Given the description of an element on the screen output the (x, y) to click on. 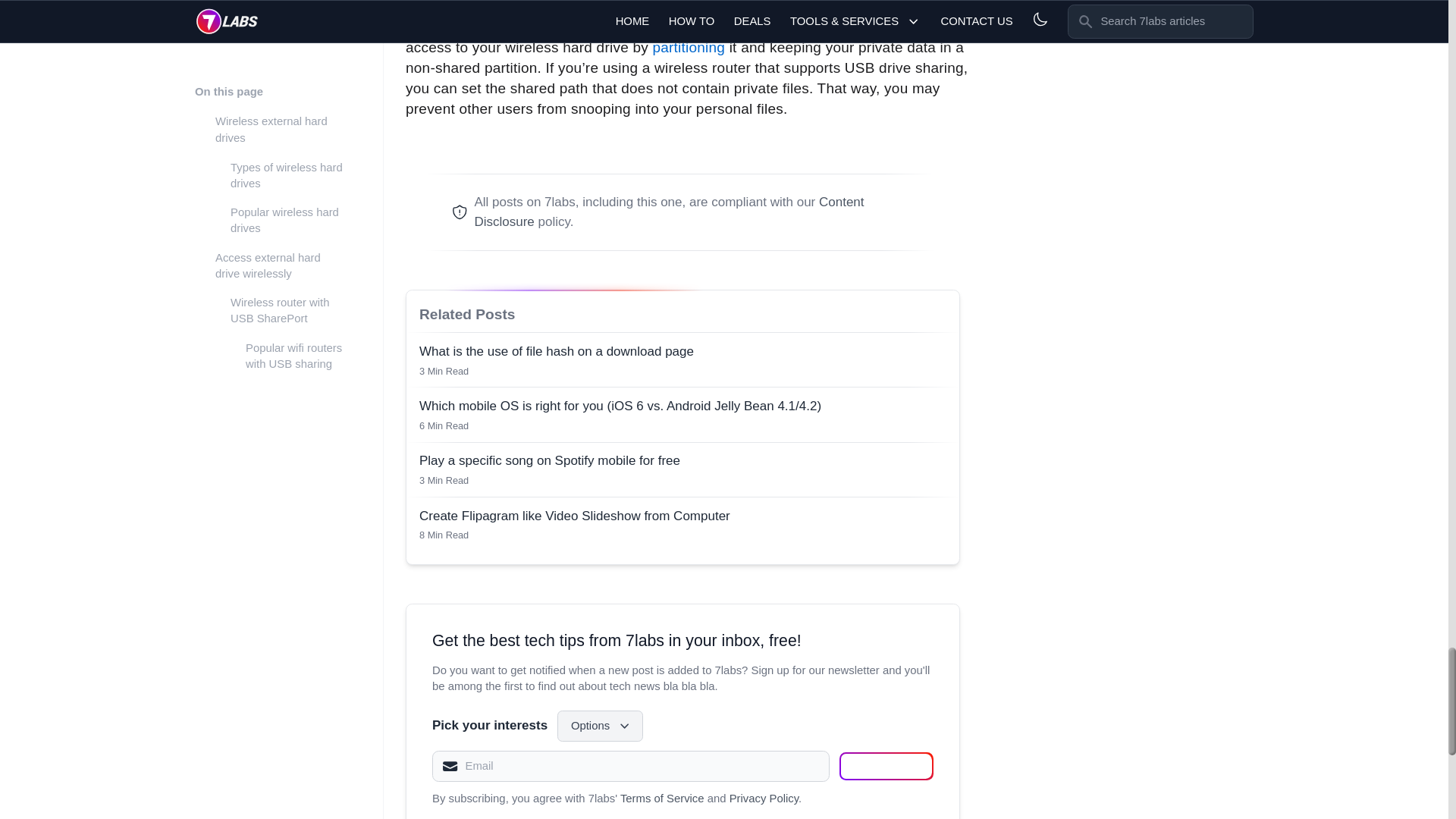
partitioning (688, 47)
Content Disclosure (668, 211)
